Given the description of an element on the screen output the (x, y) to click on. 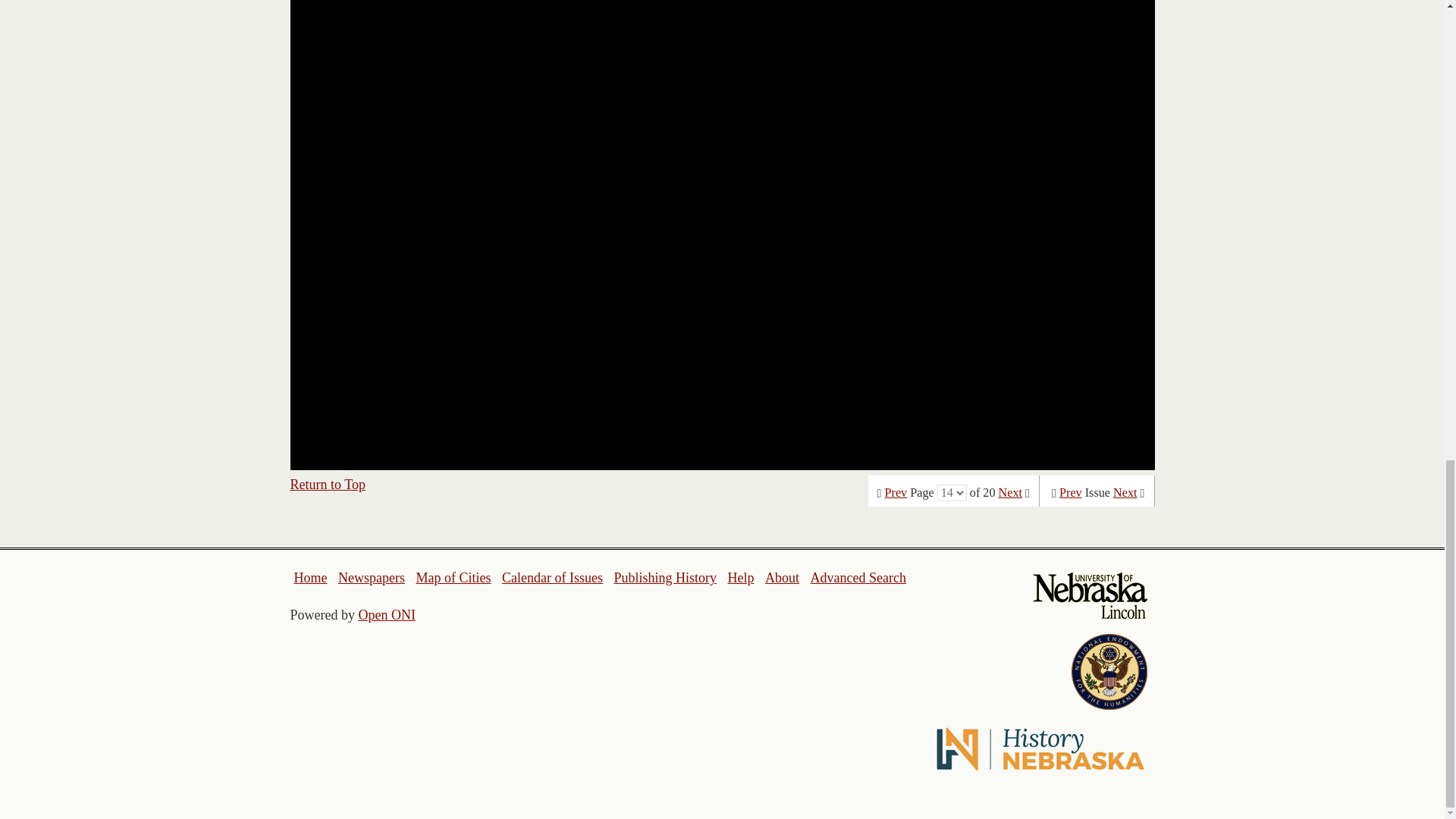
Calendar of Issues (552, 577)
Advanced Search (857, 577)
Next (1010, 492)
About (782, 577)
Home (310, 577)
Newspapers (370, 577)
Help (740, 577)
Open ONI (386, 614)
Return to Top (327, 484)
Prev (896, 492)
